Given the description of an element on the screen output the (x, y) to click on. 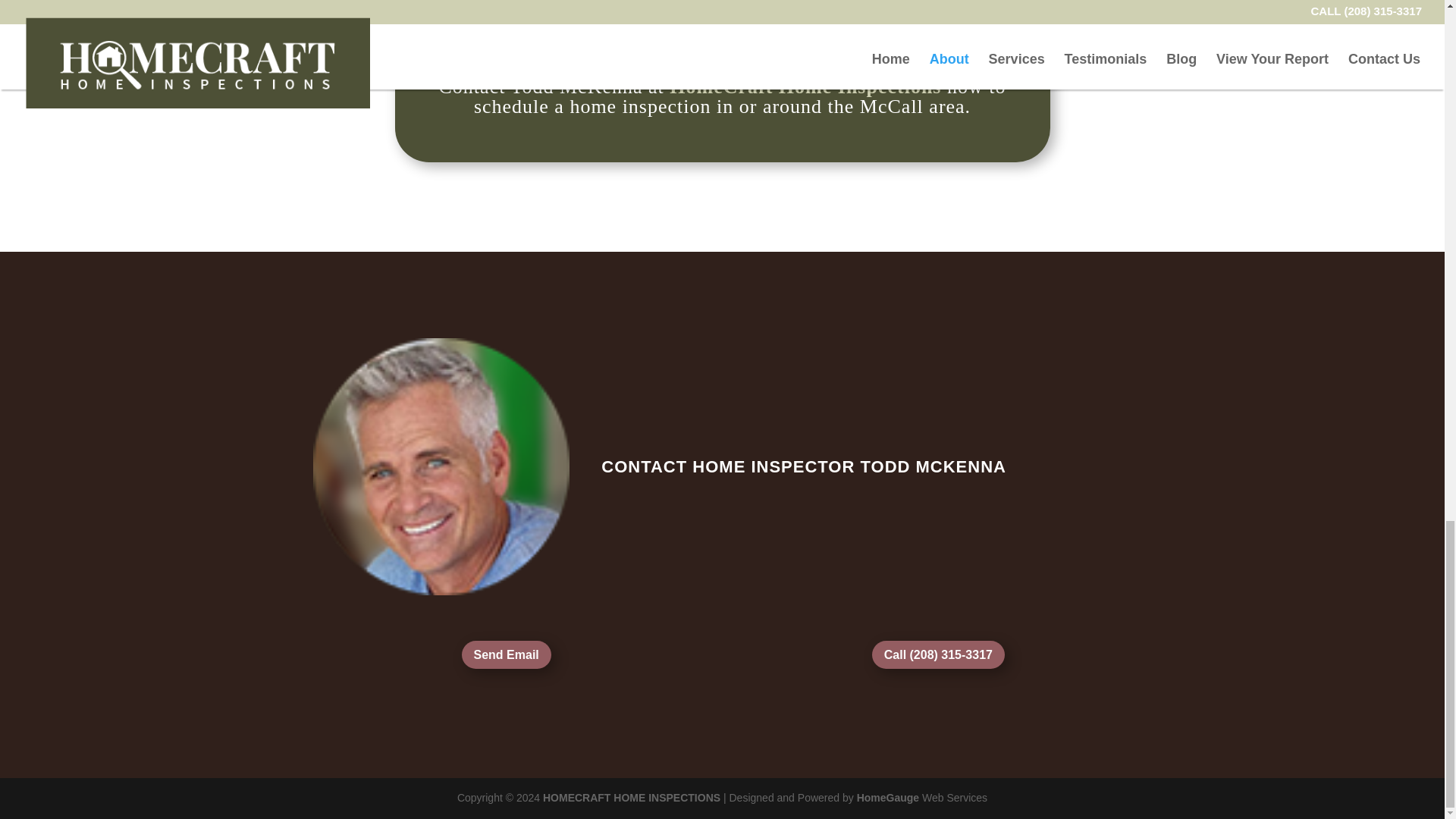
Send Email (506, 654)
HomeCraft Home Inspections (804, 86)
HOMECRAFT HOME INSPECTIONS (631, 797)
HomeGauge (887, 797)
